Given the description of an element on the screen output the (x, y) to click on. 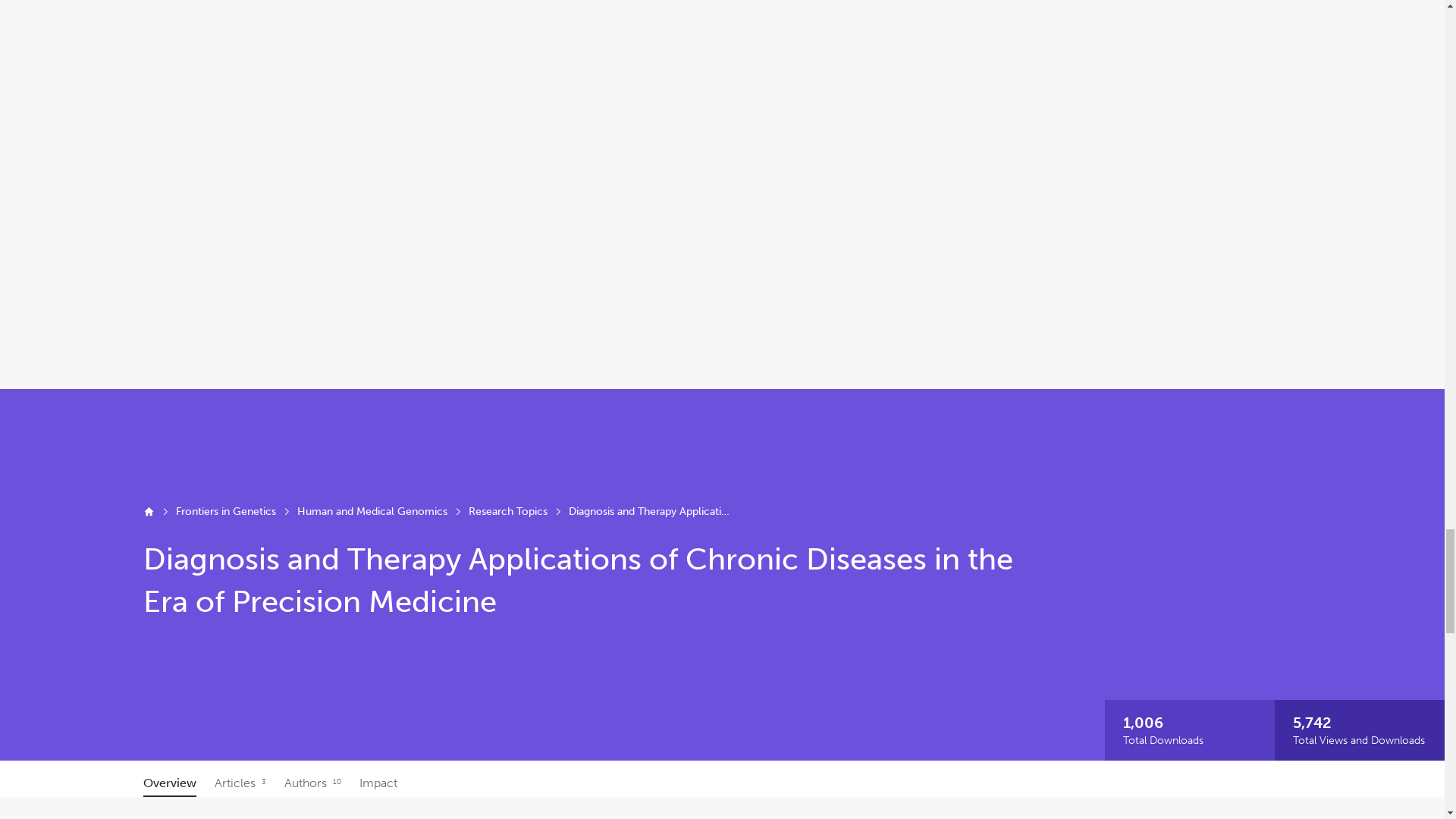
Articles 3 (240, 783)
Impact (378, 783)
Authors 10 (311, 783)
Overview (169, 783)
Research Topics (507, 511)
Frontiers in Genetics (226, 511)
Human and Medical Genomics (371, 511)
